Given the description of an element on the screen output the (x, y) to click on. 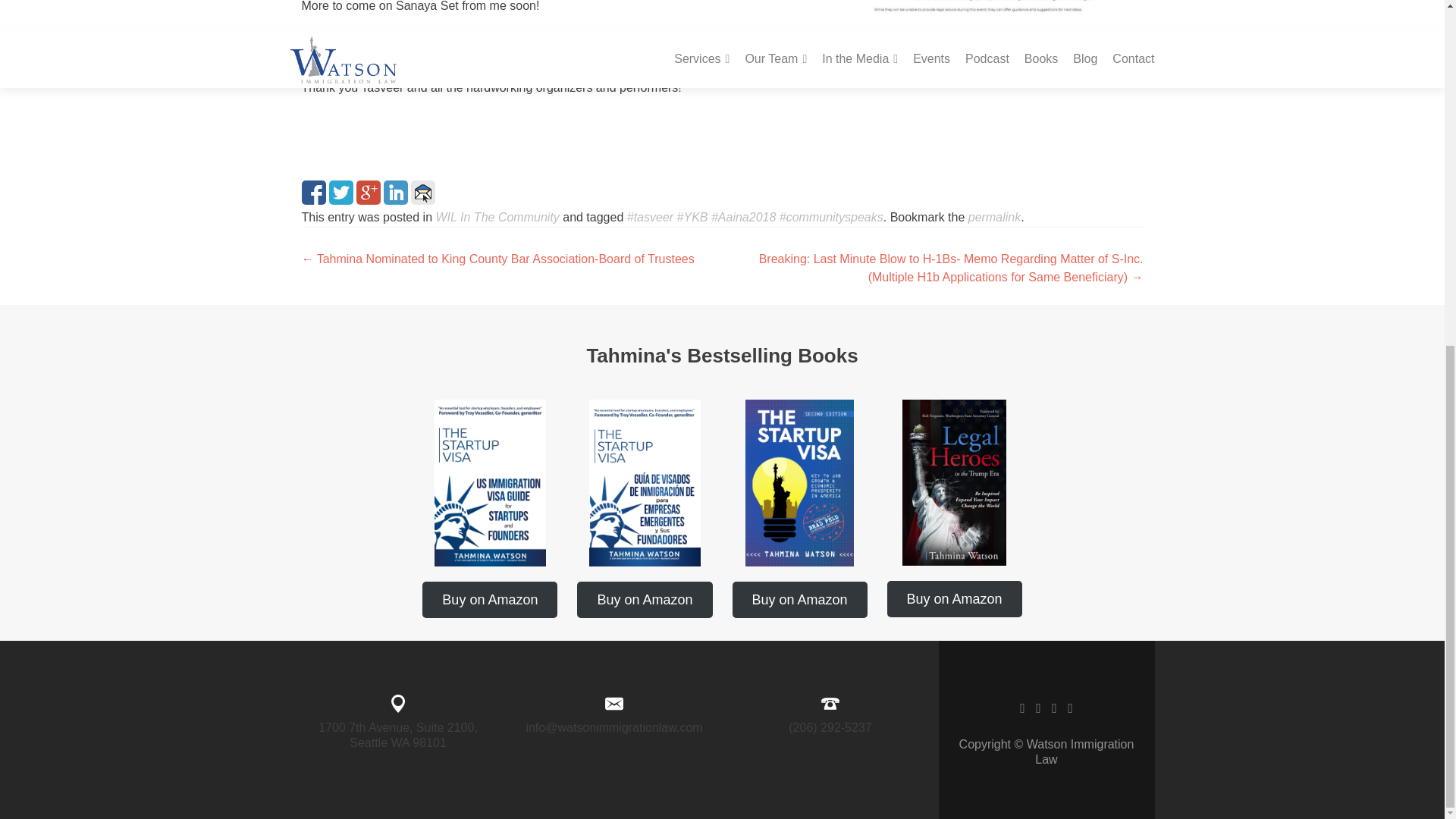
WIL In The Community (497, 216)
permalink (994, 216)
Buy on Amazon (489, 599)
